Given the description of an element on the screen output the (x, y) to click on. 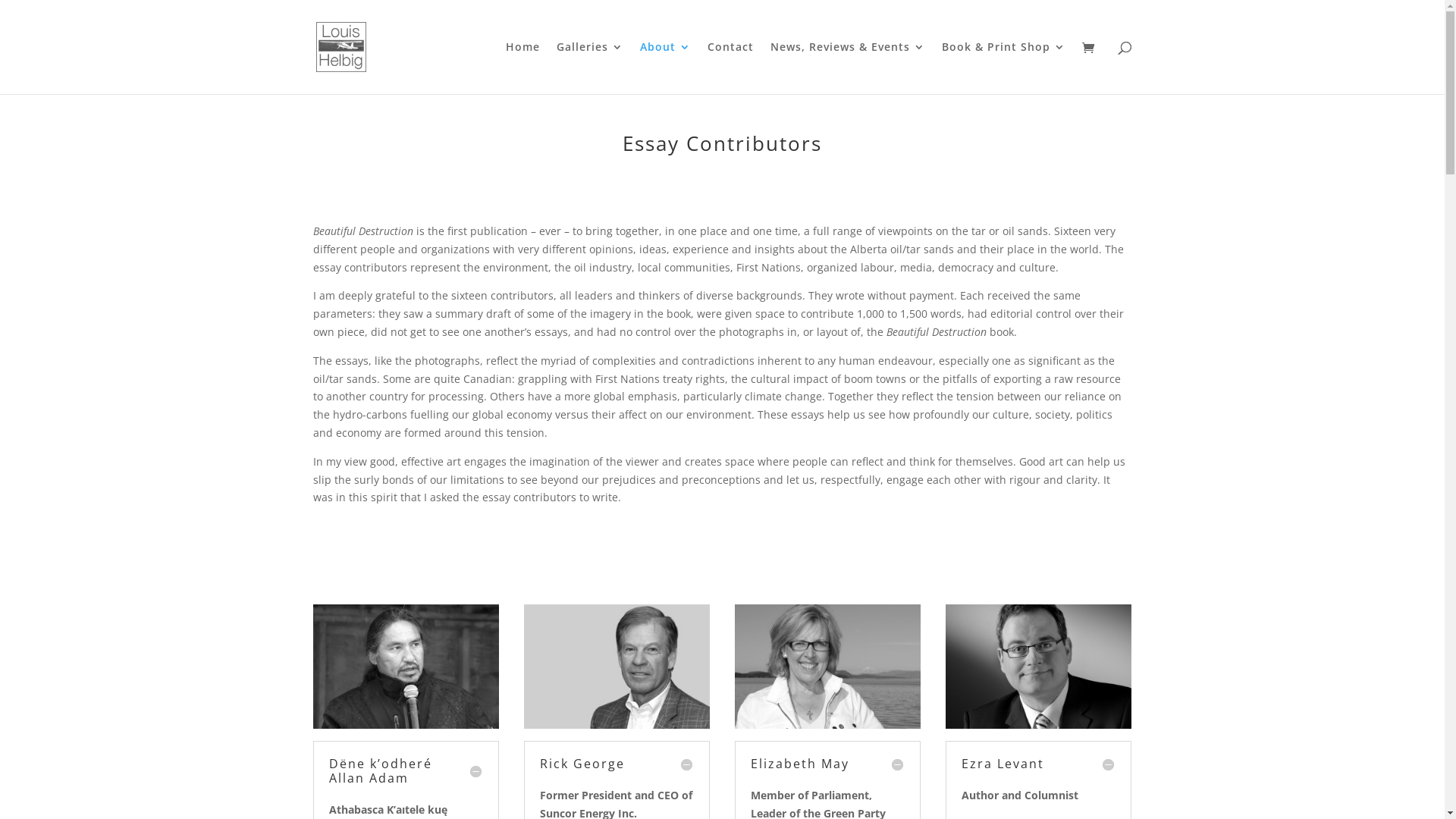
News, Reviews & Events Element type: text (847, 67)
About Element type: text (665, 67)
Contact Element type: text (729, 67)
Galleries Element type: text (589, 67)
Book & Print Shop Element type: text (1003, 67)
Home Element type: text (522, 67)
